Given the description of an element on the screen output the (x, y) to click on. 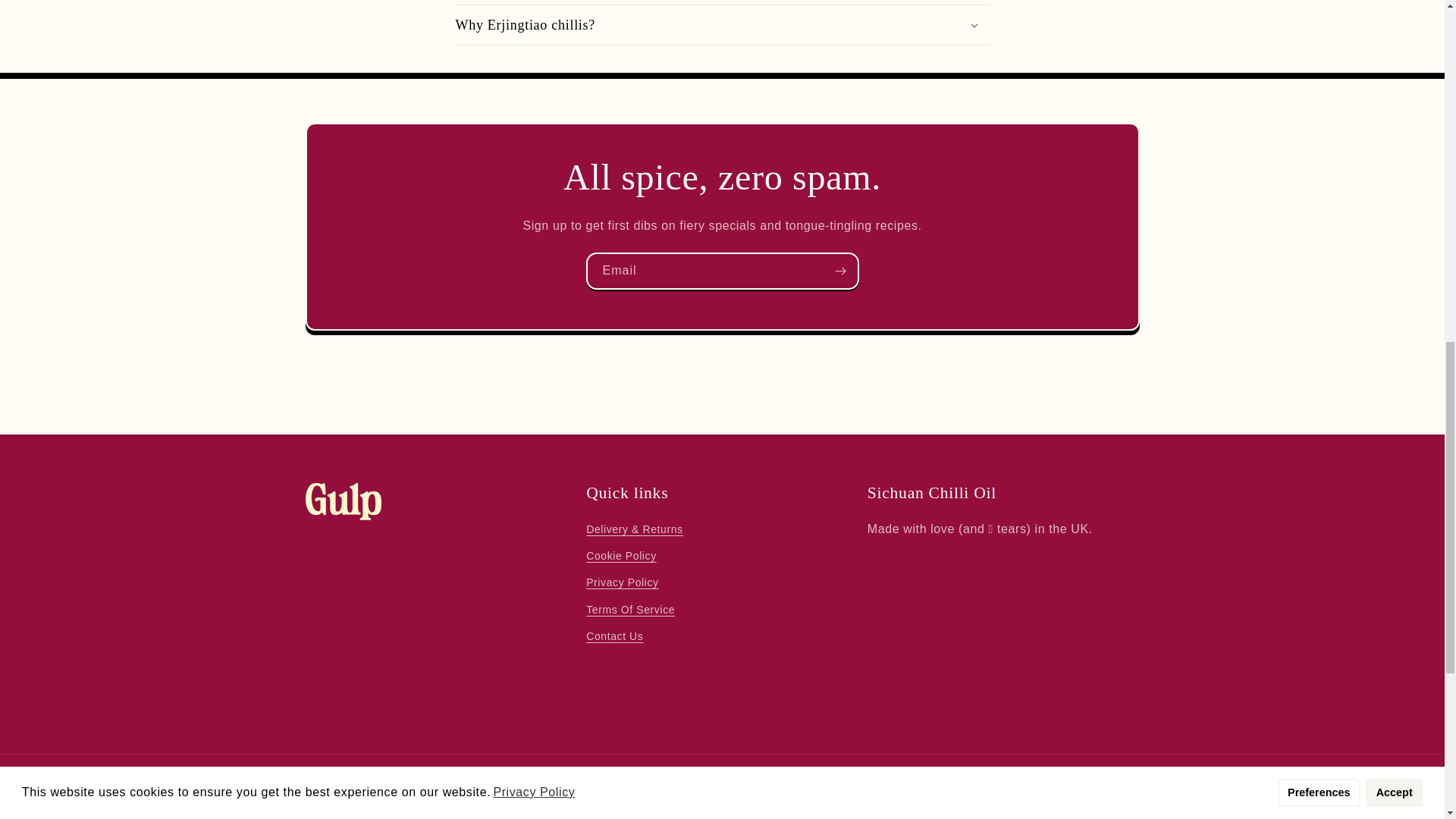
Terms Of Service (630, 610)
Privacy Policy (622, 582)
American Express (737, 809)
Cookie Policy (621, 555)
